Given the description of an element on the screen output the (x, y) to click on. 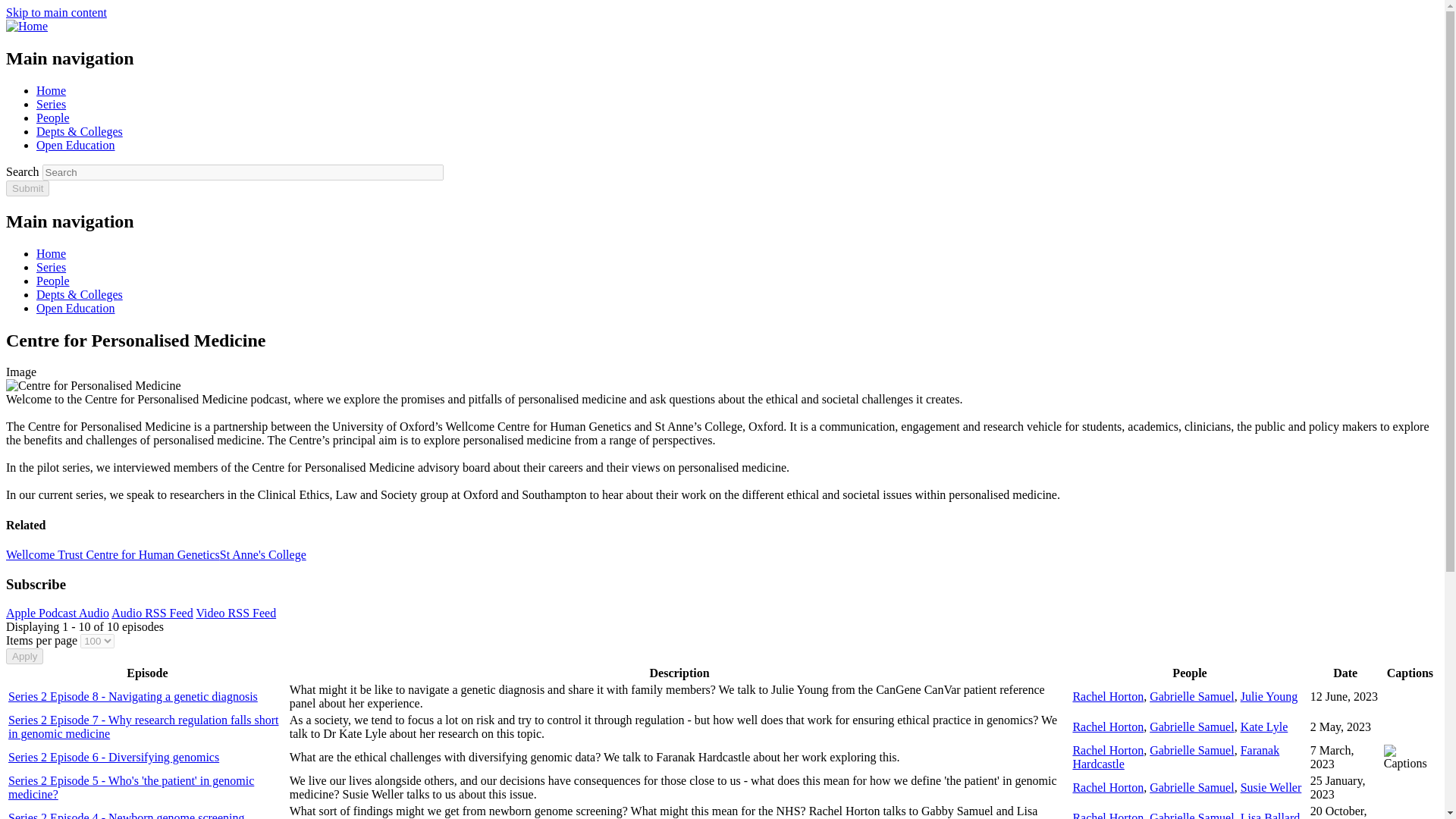
Series (50, 103)
Series 2 Episode 6 - Diversifying genomics (113, 757)
Faranak Hardcastle (1175, 756)
Kate Lyle (1264, 726)
Series 2 Episode 8 - Navigating a genetic diagnosis (132, 696)
Submit (27, 188)
Video RSS Feed (235, 612)
Series 2 Episode 4 - Newborn genome screening (126, 815)
Apply (24, 656)
Centre for Personalised Medicine (92, 386)
Skip to main content (55, 11)
Gabrielle Samuel (1192, 815)
Rachel Horton (1106, 815)
People (52, 117)
